Given the description of an element on the screen output the (x, y) to click on. 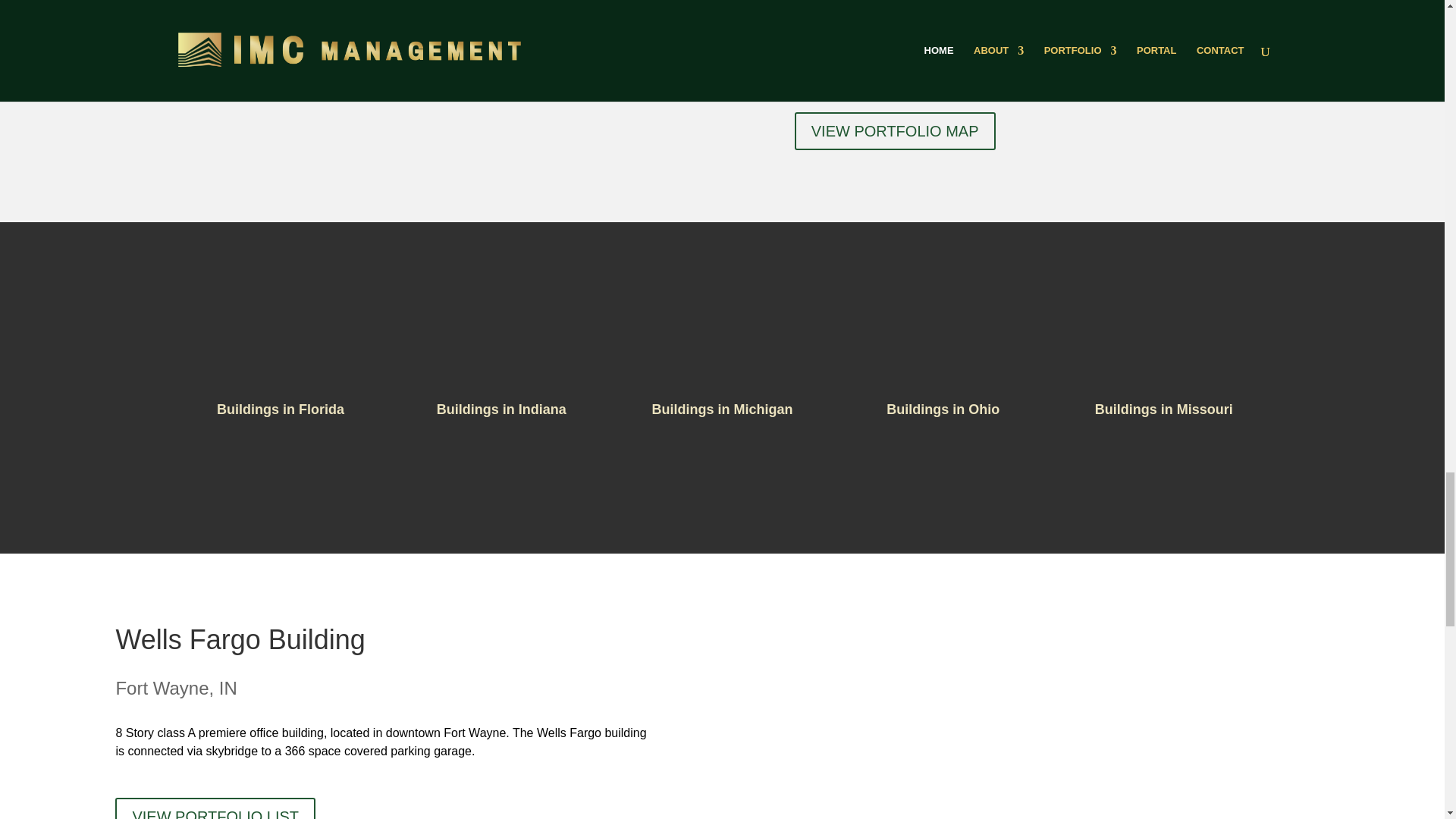
Buildings in Indiana (501, 409)
VIEW PORTFOLIO LIST (215, 808)
Buildings in Florida (279, 409)
Buildings in Michigan (721, 409)
Buildings in Missouri (1163, 409)
Buildings in Ohio (942, 409)
VIEW PORTFOLIO MAP (894, 130)
